Given the description of an element on the screen output the (x, y) to click on. 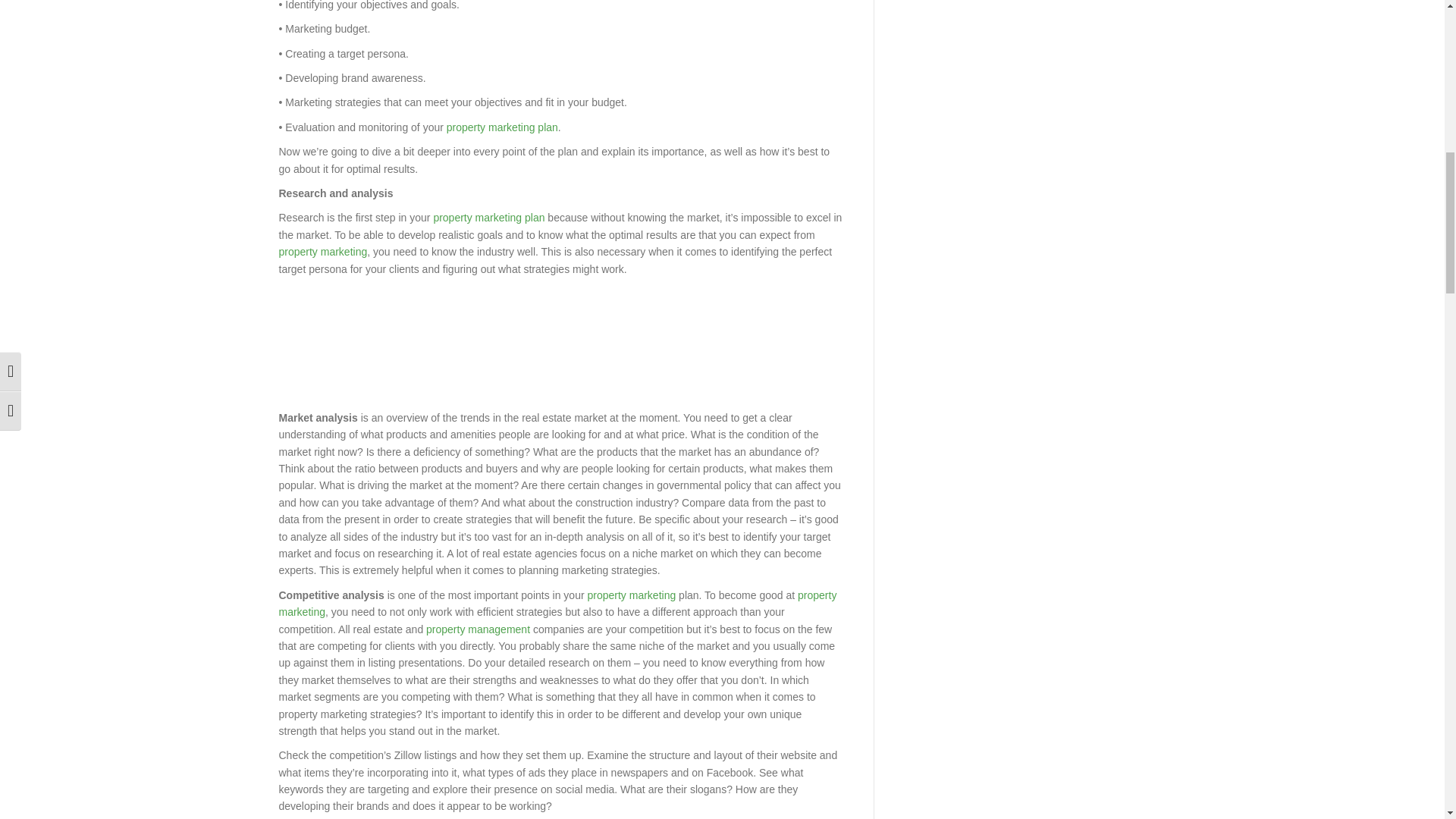
property marketing (558, 603)
property management (477, 629)
property marketing plan (501, 127)
property marketing (630, 594)
property marketing plan (488, 217)
property marketing (323, 251)
